Given the description of an element on the screen output the (x, y) to click on. 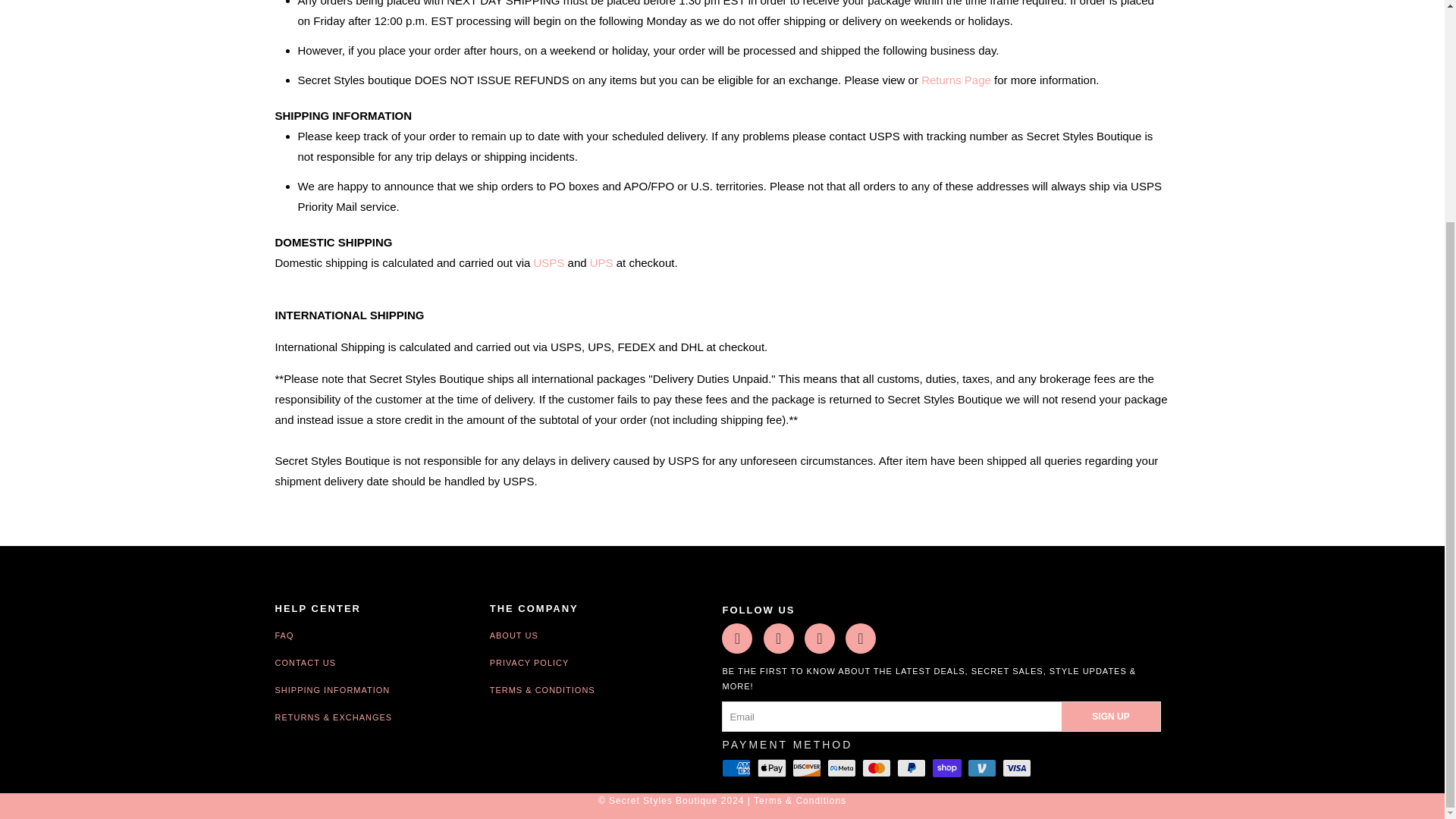
SIGN UP (1109, 716)
Returns Page (956, 79)
UPS (600, 262)
Secret Styles Boutique on Twitter (737, 638)
USPS (549, 262)
Secret Styles Boutique on Facebook (777, 638)
Secret Styles Boutique on Instagram (860, 638)
Secret Styles Boutique on Pinterest (819, 638)
SHIPPING INFORMATION (373, 689)
CONTACT US (373, 662)
FAQ (373, 634)
